Given the description of an element on the screen output the (x, y) to click on. 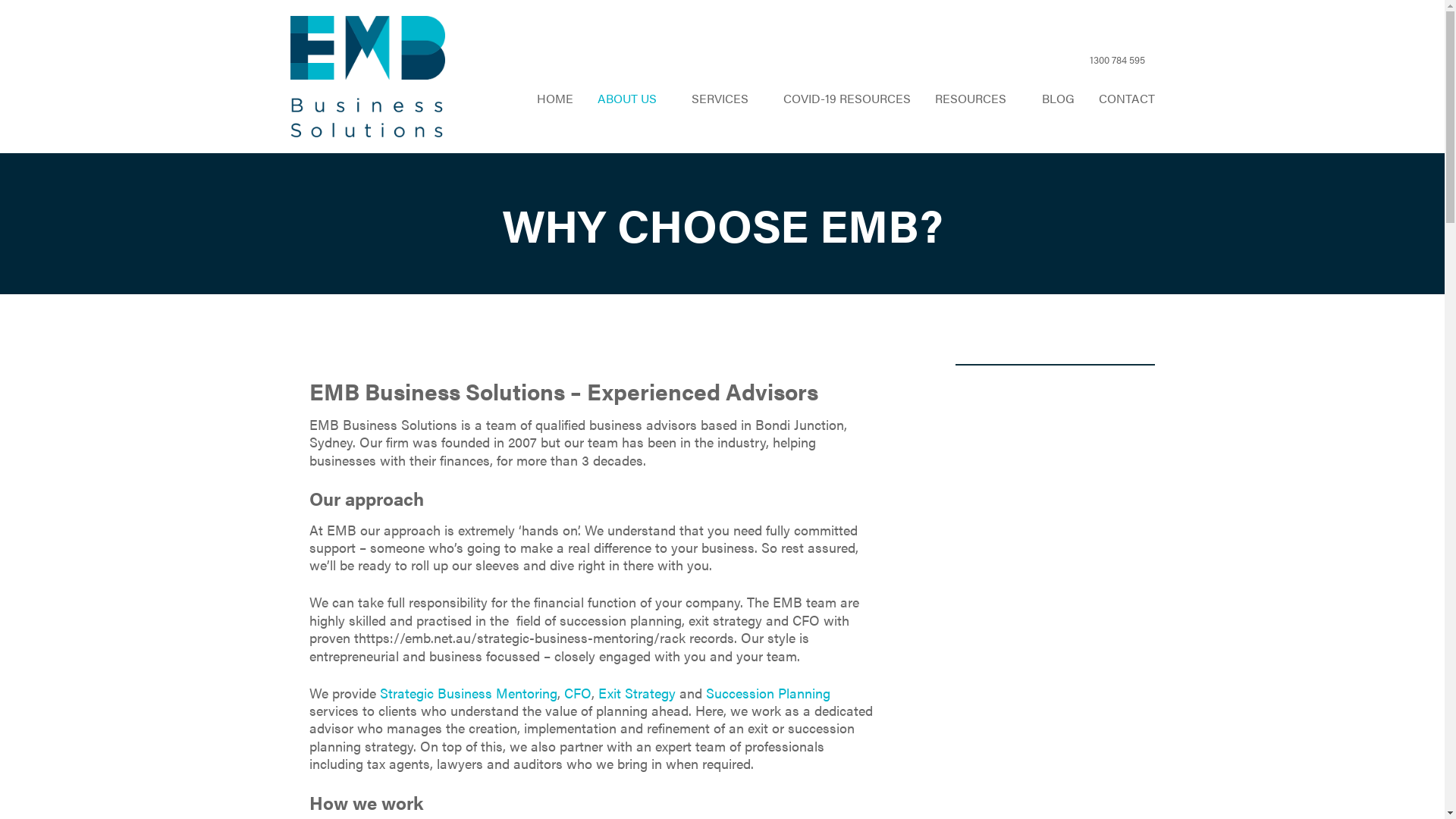
SERVICES  Element type: text (725, 98)
RESOURCES  Element type: text (975, 98)
CFO Element type: text (577, 692)
HOME Element type: text (554, 98)
1300 784 595 Element type: text (1103, 60)
Exit Strategy Element type: text (635, 692)
CONTACT Element type: text (1125, 98)
COVID-19 RESOURCES Element type: text (846, 98)
ABOUT US  Element type: text (632, 98)
Strategic Business Mentoring Element type: text (467, 692)
BLOG Element type: text (1057, 98)
Succession Planning Element type: text (767, 692)
